Given the description of an element on the screen output the (x, y) to click on. 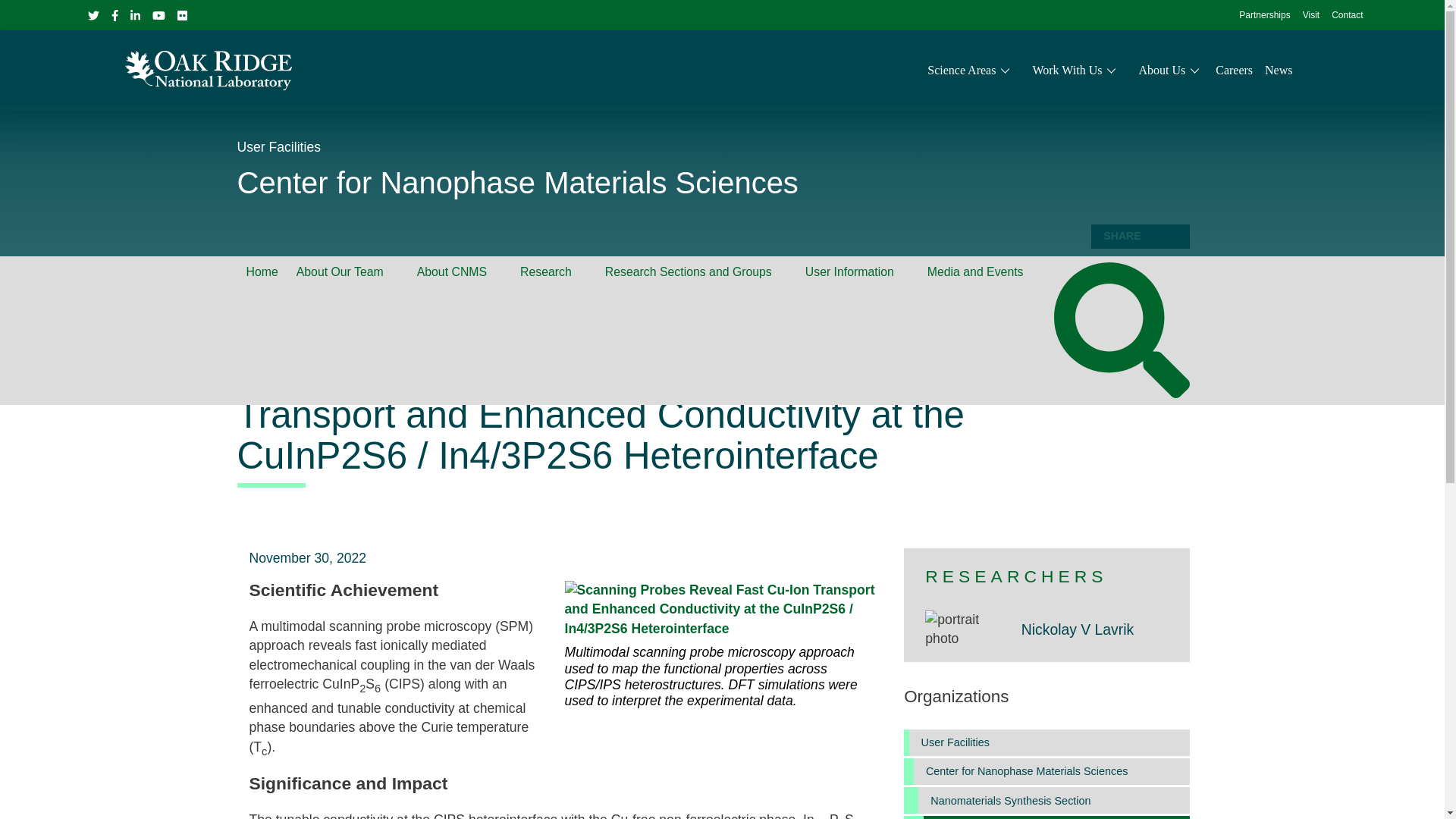
flickr (182, 14)
Partnerships (1264, 15)
User Facilities (277, 146)
Facebook (113, 15)
YouTube (158, 15)
LinkedIn (135, 14)
Center for Nanophase Materials Sciences (516, 182)
Contact (1347, 15)
News (1278, 69)
Home (260, 272)
Careers (1233, 69)
Facebook (113, 14)
Oak Ridge National Laboratory (208, 70)
LinkedIn (135, 15)
